Given the description of an element on the screen output the (x, y) to click on. 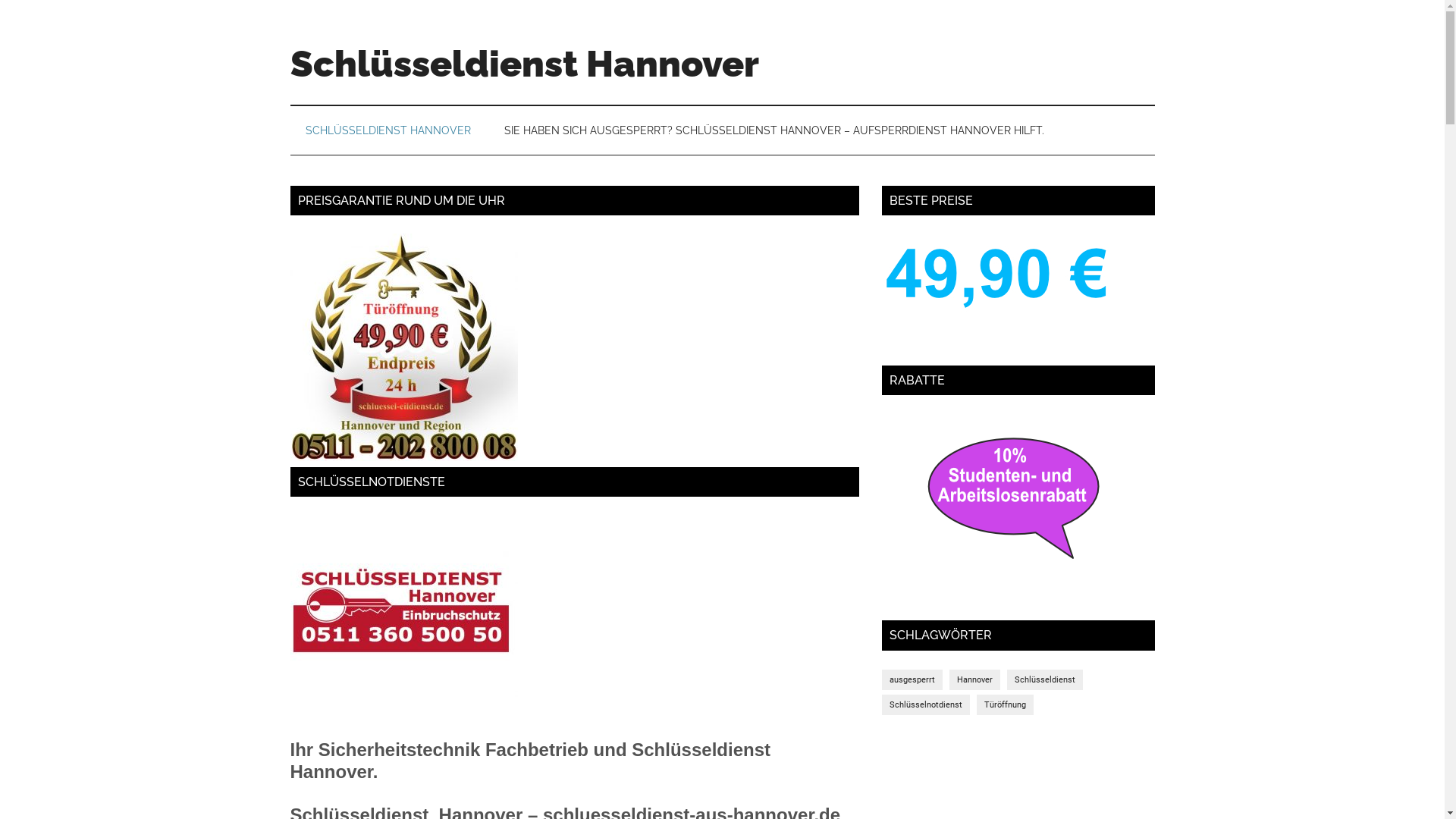
Hannover Element type: text (974, 679)
ausgesperrt Element type: text (911, 679)
Skip to main content Element type: text (0, 0)
